Given the description of an element on the screen output the (x, y) to click on. 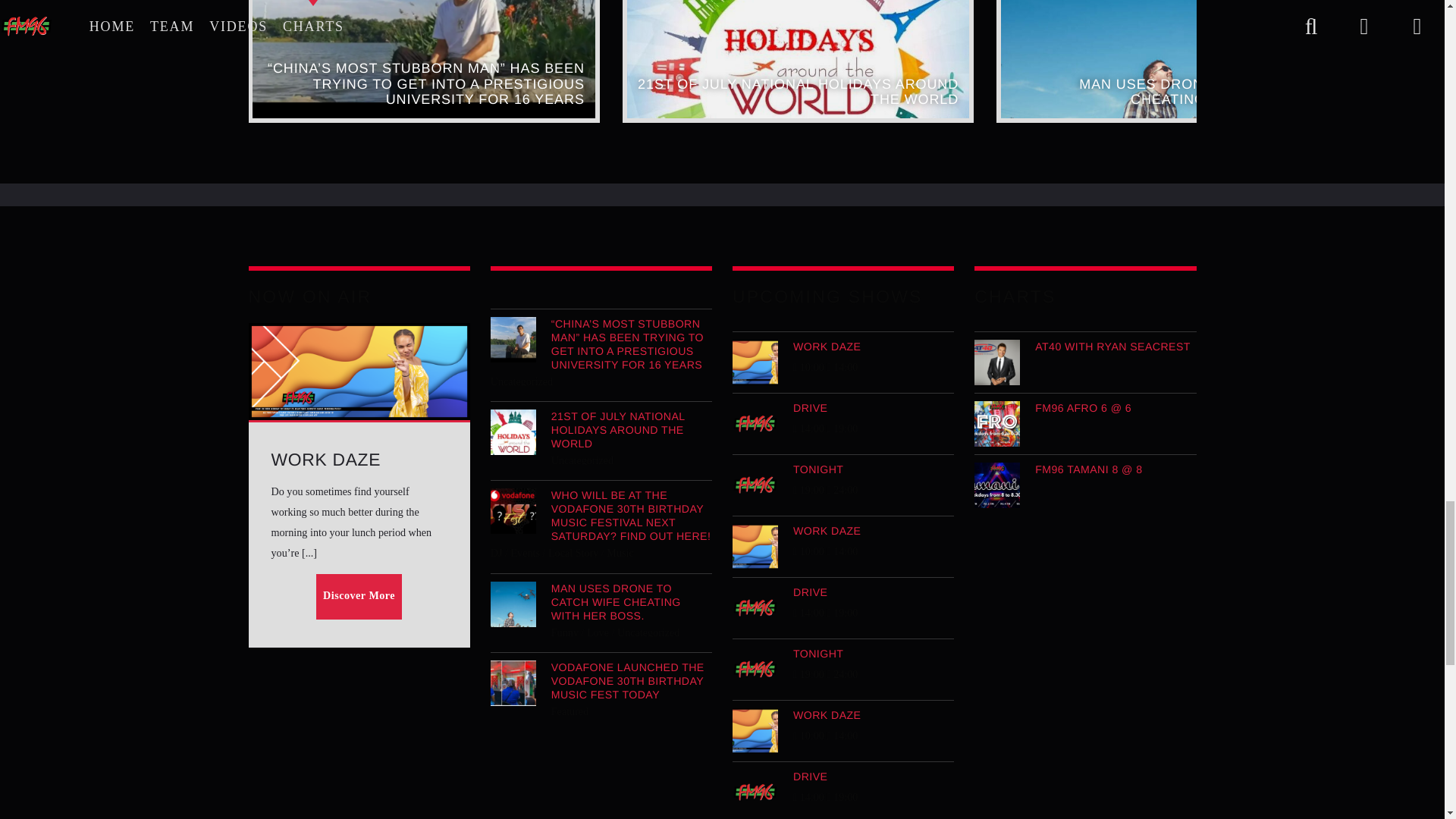
Read More about Drive (842, 407)
Read More about Work Daze (842, 345)
